Given the description of an element on the screen output the (x, y) to click on. 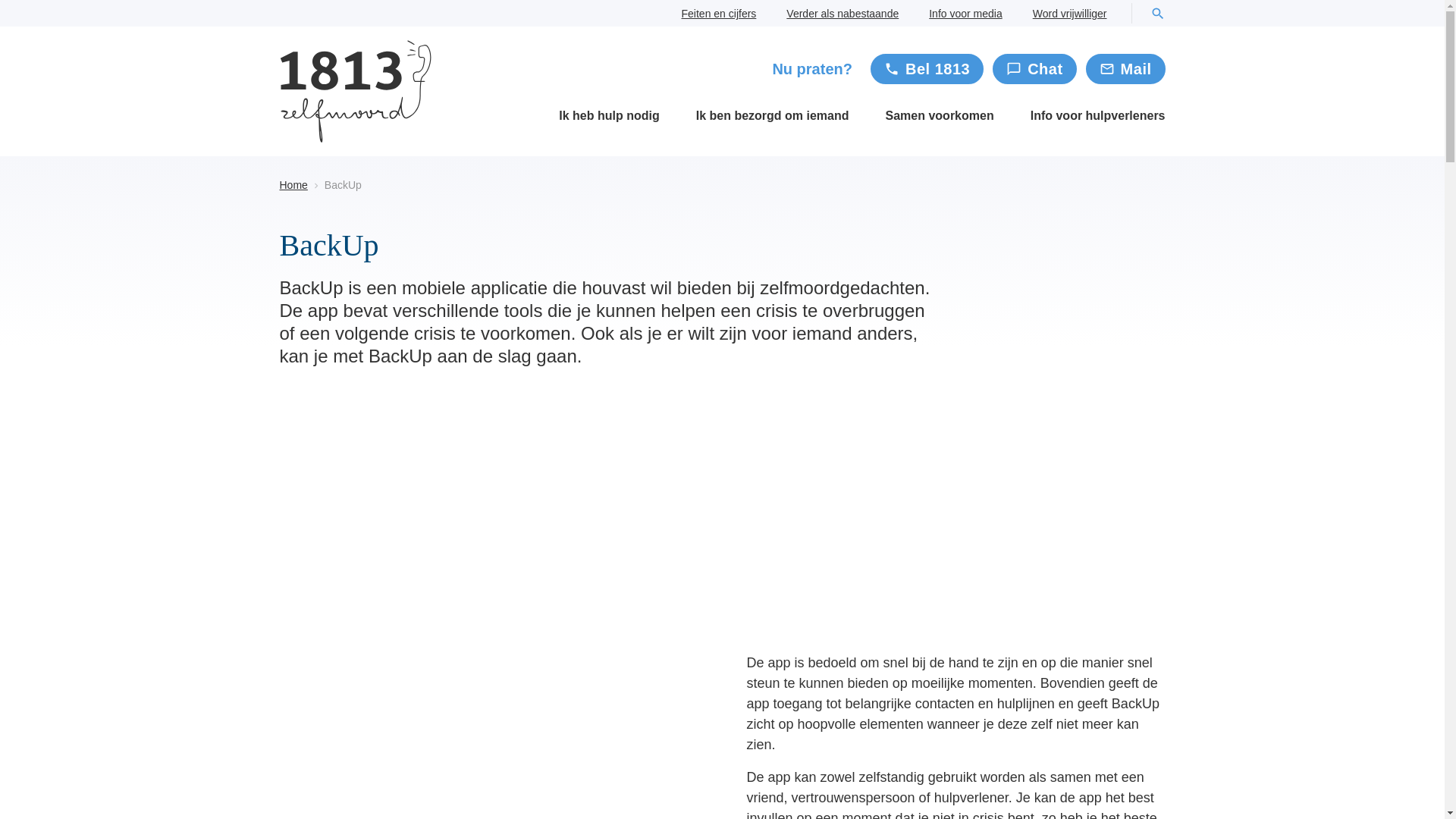
Ik ben bezorgd om iemand Element type: text (772, 115)
Info voor media Element type: text (965, 13)
Bel 1813 Element type: text (926, 68)
Samen voorkomen Element type: text (939, 115)
Feiten en cijfers Element type: text (718, 13)
Zoeken Element type: text (1156, 13)
Info voor hulpverleners Element type: text (1097, 115)
BackUp Element type: text (744, 185)
Mail Element type: text (1125, 68)
Verder als nabestaande Element type: text (842, 13)
Chat Element type: text (1034, 68)
Home Element type: text (293, 185)
Word vrijwilliger Element type: text (1069, 13)
Ik heb hulp nodig Element type: text (608, 115)
